Given the description of an element on the screen output the (x, y) to click on. 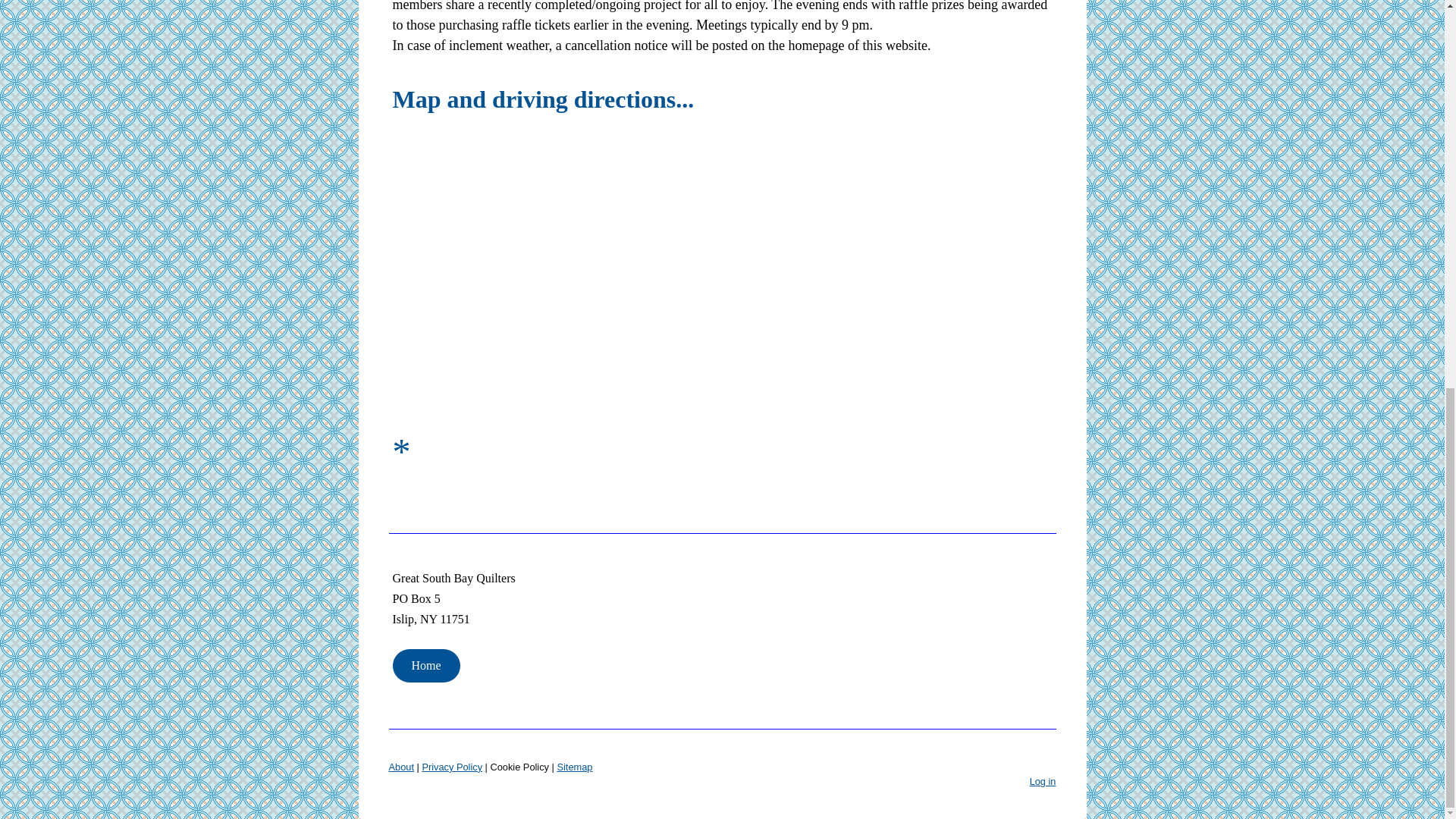
About (400, 767)
Home (426, 665)
Privacy Policy (451, 767)
